Given the description of an element on the screen output the (x, y) to click on. 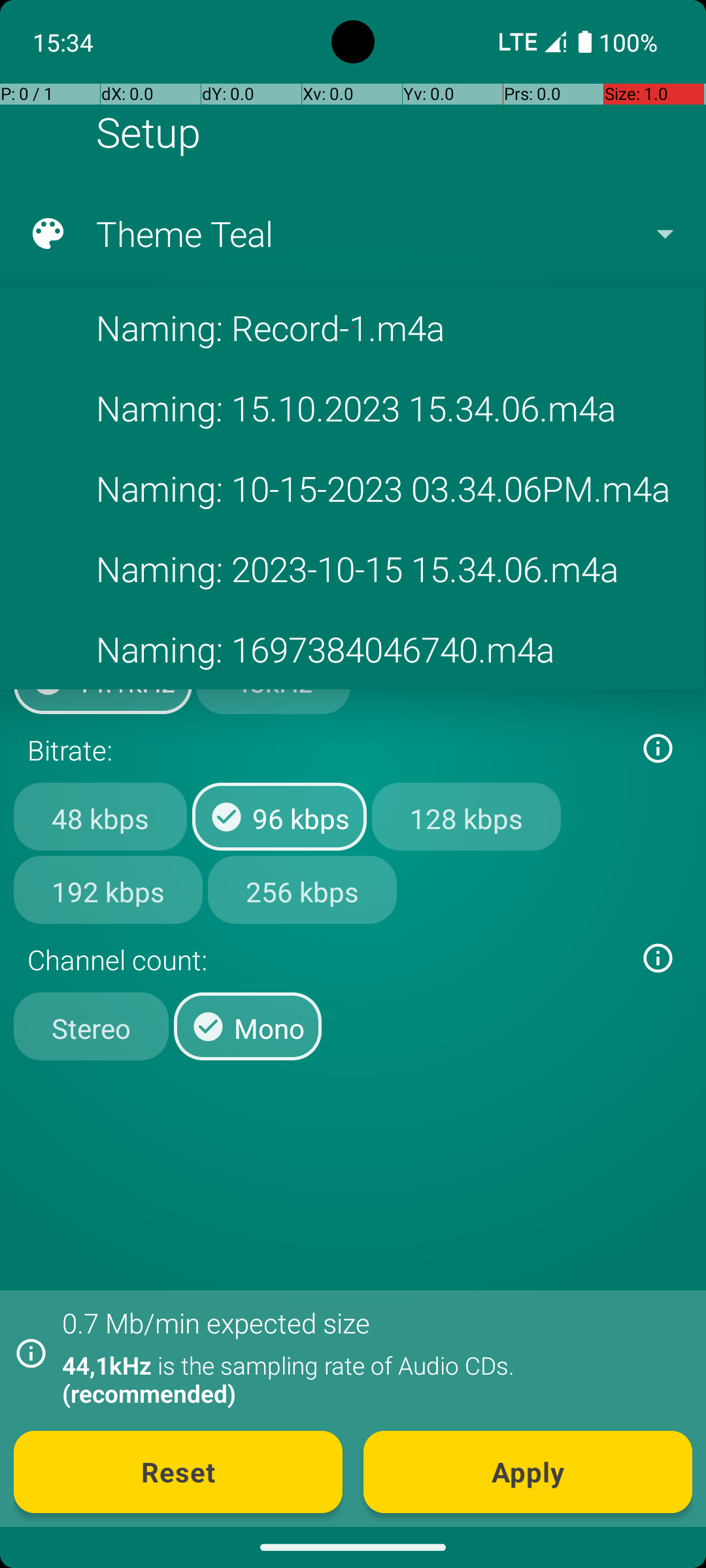
Naming: 15.10.2023 15.34.06.m4a Element type: android.widget.TextView (352, 407)
Naming: 10-15-2023 03.34.06PM.m4a Element type: android.widget.TextView (352, 488)
Naming: 2023-10-15 15.34.06.m4a Element type: android.widget.TextView (352, 568)
Naming: 1697384046740.m4a Element type: android.widget.TextView (352, 648)
